Given the description of an element on the screen output the (x, y) to click on. 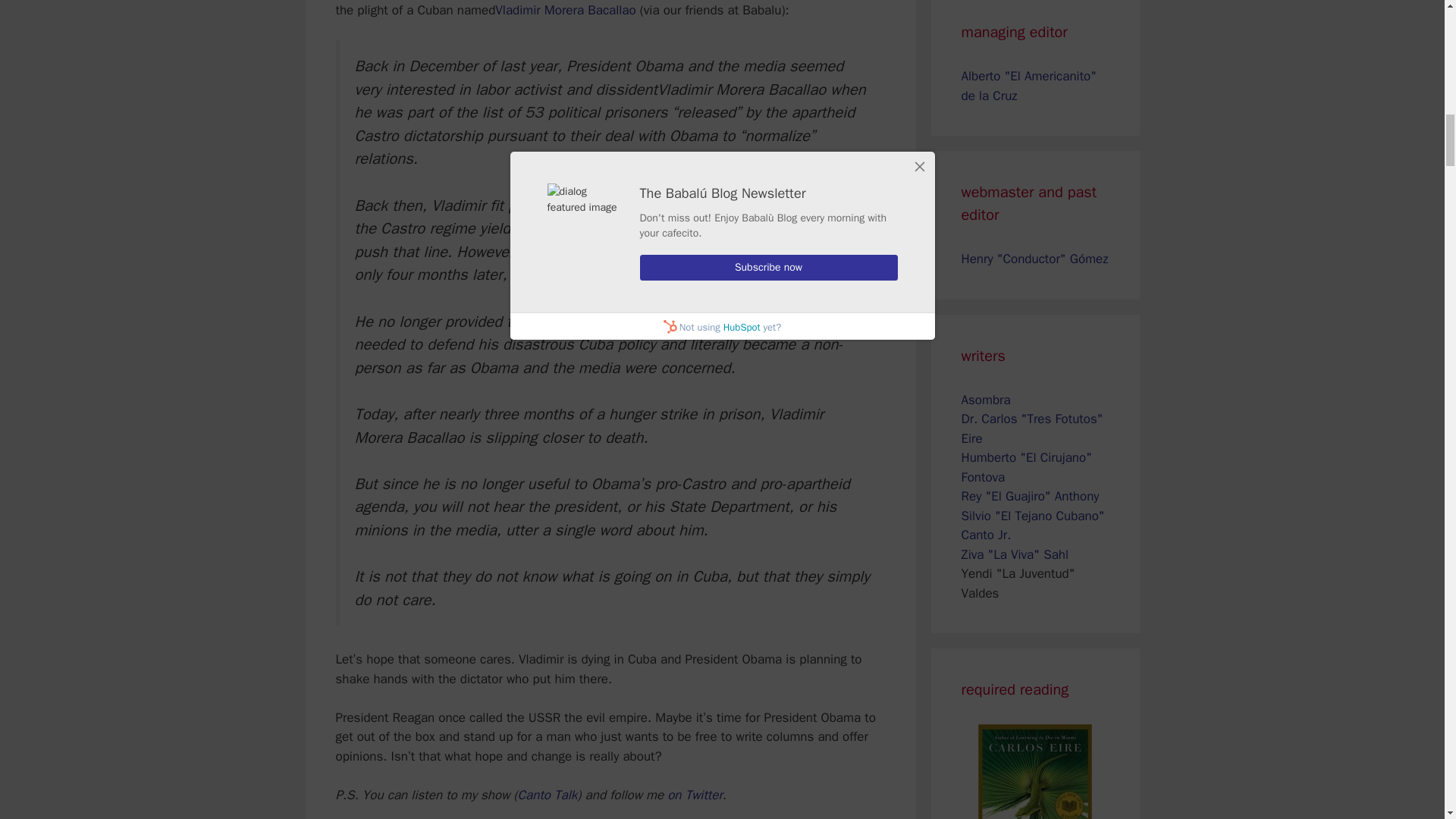
Canto Talk (548, 795)
Vladimir Morera Bacallao (564, 10)
on Twitter (694, 795)
